Given the description of an element on the screen output the (x, y) to click on. 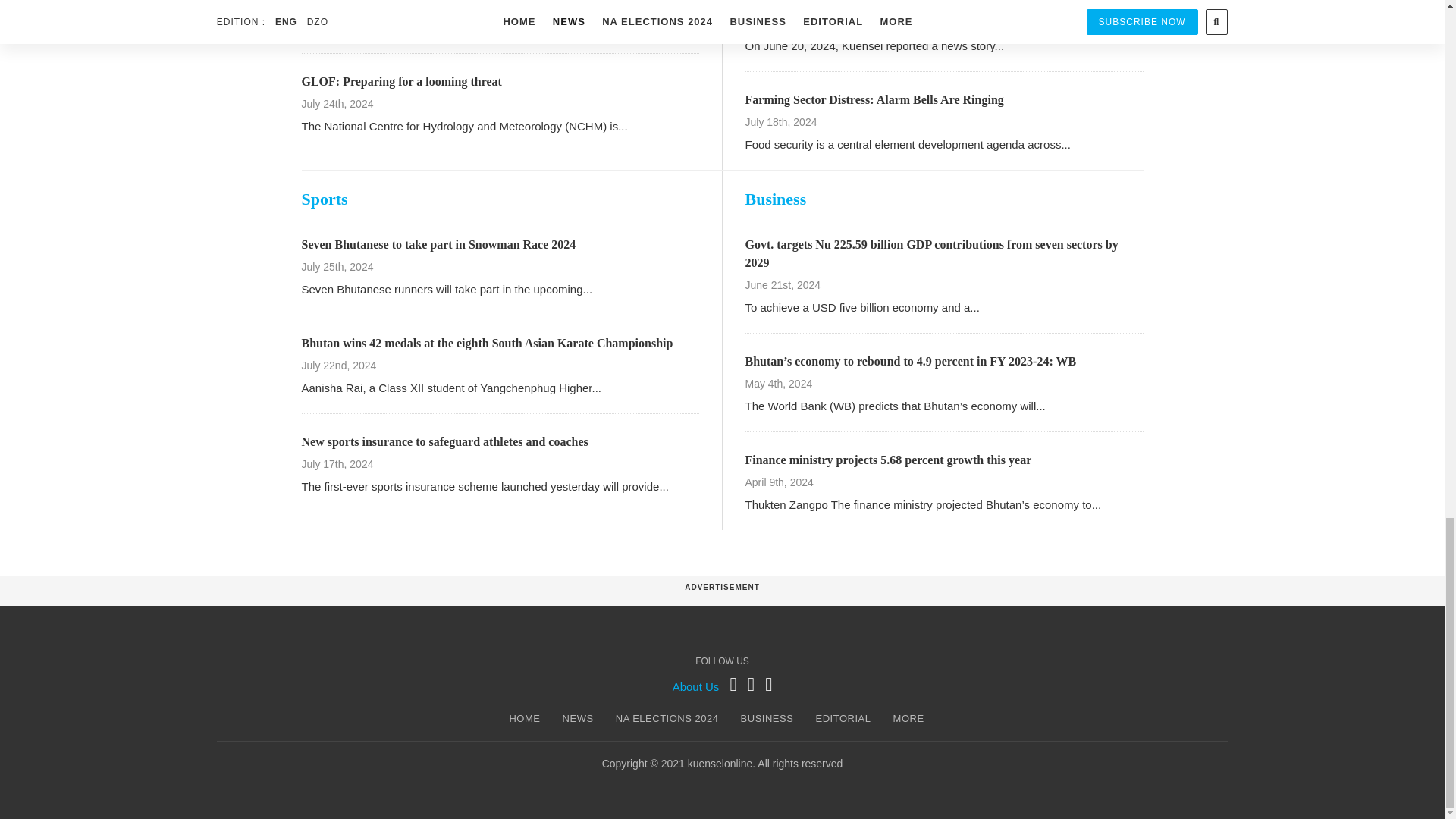
New sports insurance to safeguard athletes and coaches (444, 440)
GLOF: Preparing for a looming threat (401, 81)
BUSINESS (766, 718)
MORE (908, 718)
EDITORIAL (843, 718)
HOME (524, 718)
Farming Sector Distress: Alarm Bells Are Ringing (873, 99)
Finance ministry projects 5.68 percent growth this year (887, 459)
Seven Bhutanese to take part in Snowman Race 2024 (438, 244)
NA ELECTIONS 2024 (666, 718)
NEWS (577, 718)
About Us (695, 686)
